Given the description of an element on the screen output the (x, y) to click on. 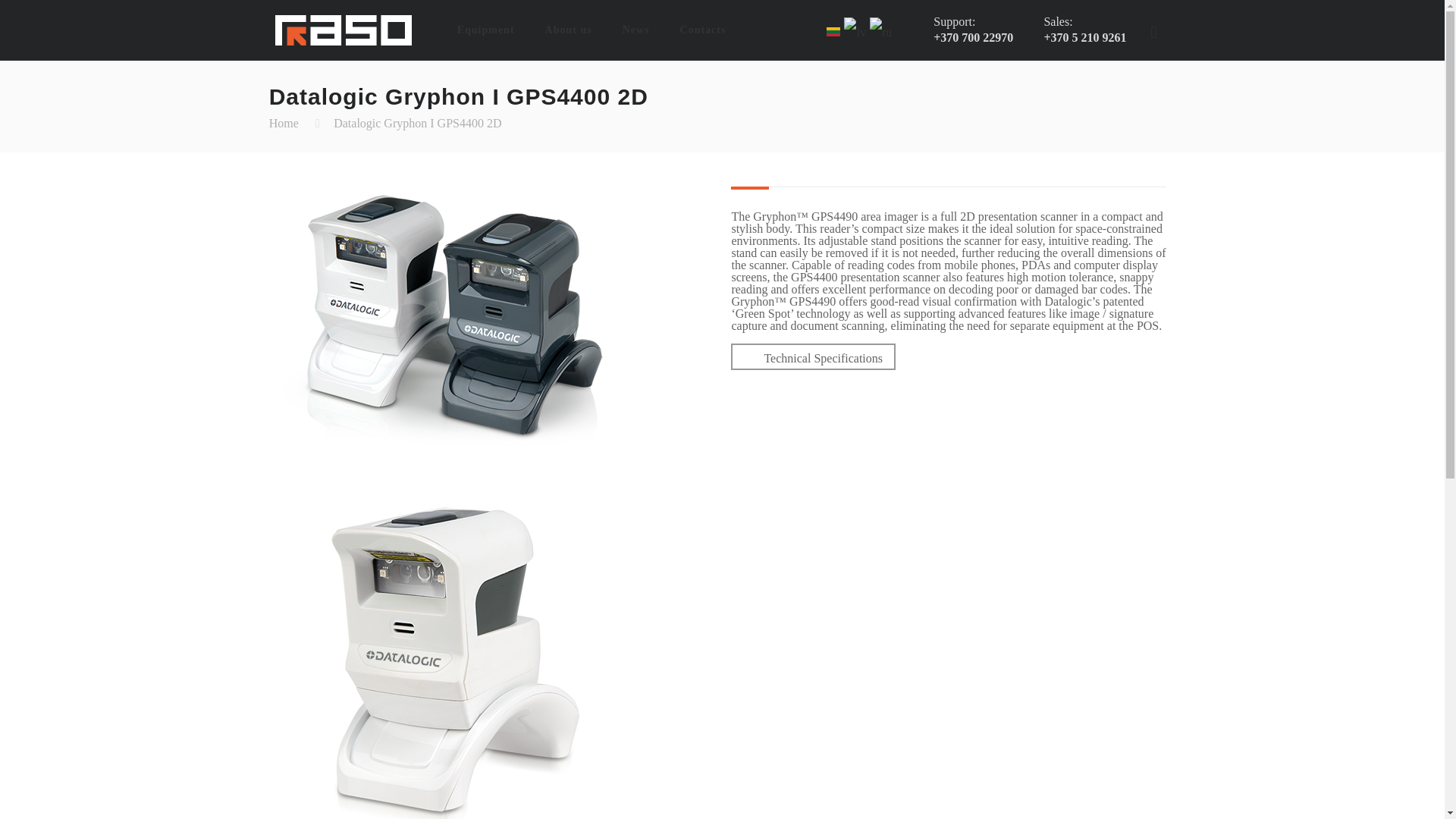
PLP-GRYPONGPS4400-BK-WT-LF (449, 333)
PLP-GRYPONGPS4400-WT-LF (449, 651)
Equipment (485, 30)
Technical Specifications (822, 358)
